Given the description of an element on the screen output the (x, y) to click on. 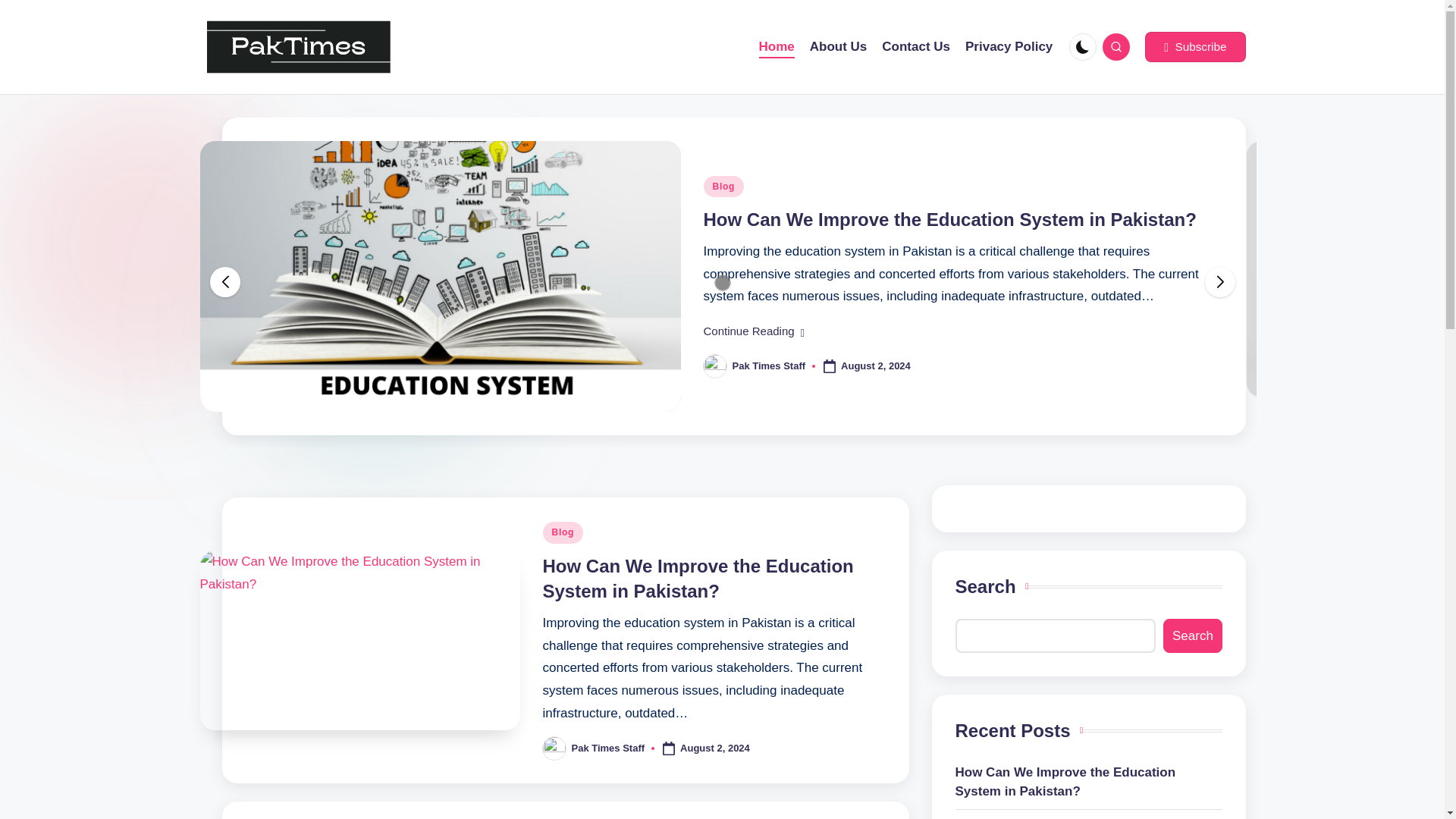
Blog (563, 531)
Pak Times Staff (608, 747)
How Can We Improve the Education System in Pakistan? (698, 578)
Contact Us (916, 47)
Continue Reading (754, 331)
Subscribe (1194, 46)
Privacy Policy (1008, 47)
Pak Times Staff (769, 365)
Blog (723, 186)
How Can We Improve the Education System in Pakistan? (949, 219)
